Given the description of an element on the screen output the (x, y) to click on. 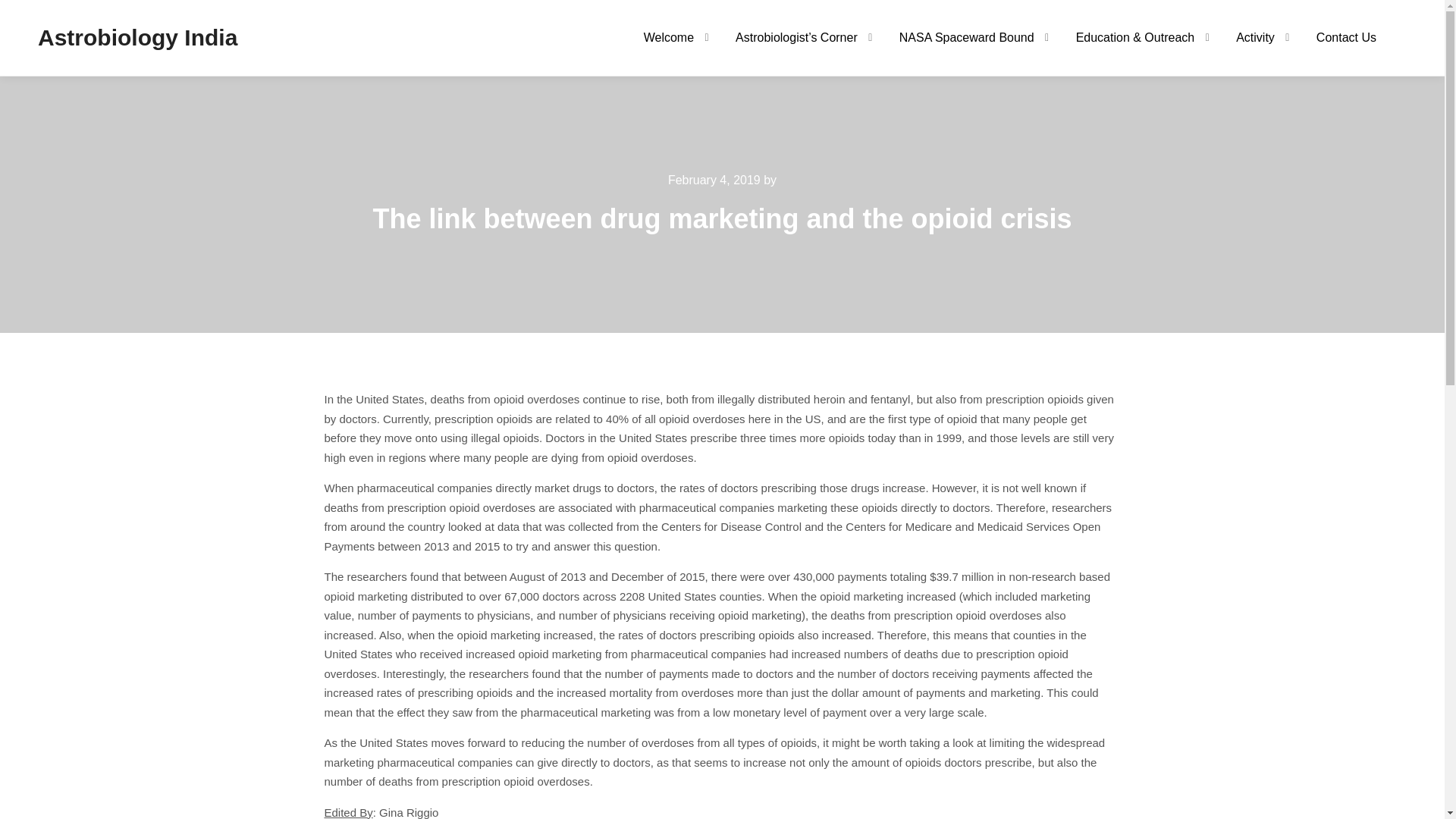
NASA Spaceward Bound (958, 38)
Astrobiology India (113, 37)
Welcome page (660, 38)
Astrobiology India (113, 37)
Contact Us (1345, 38)
Welcome (660, 38)
